Given the description of an element on the screen output the (x, y) to click on. 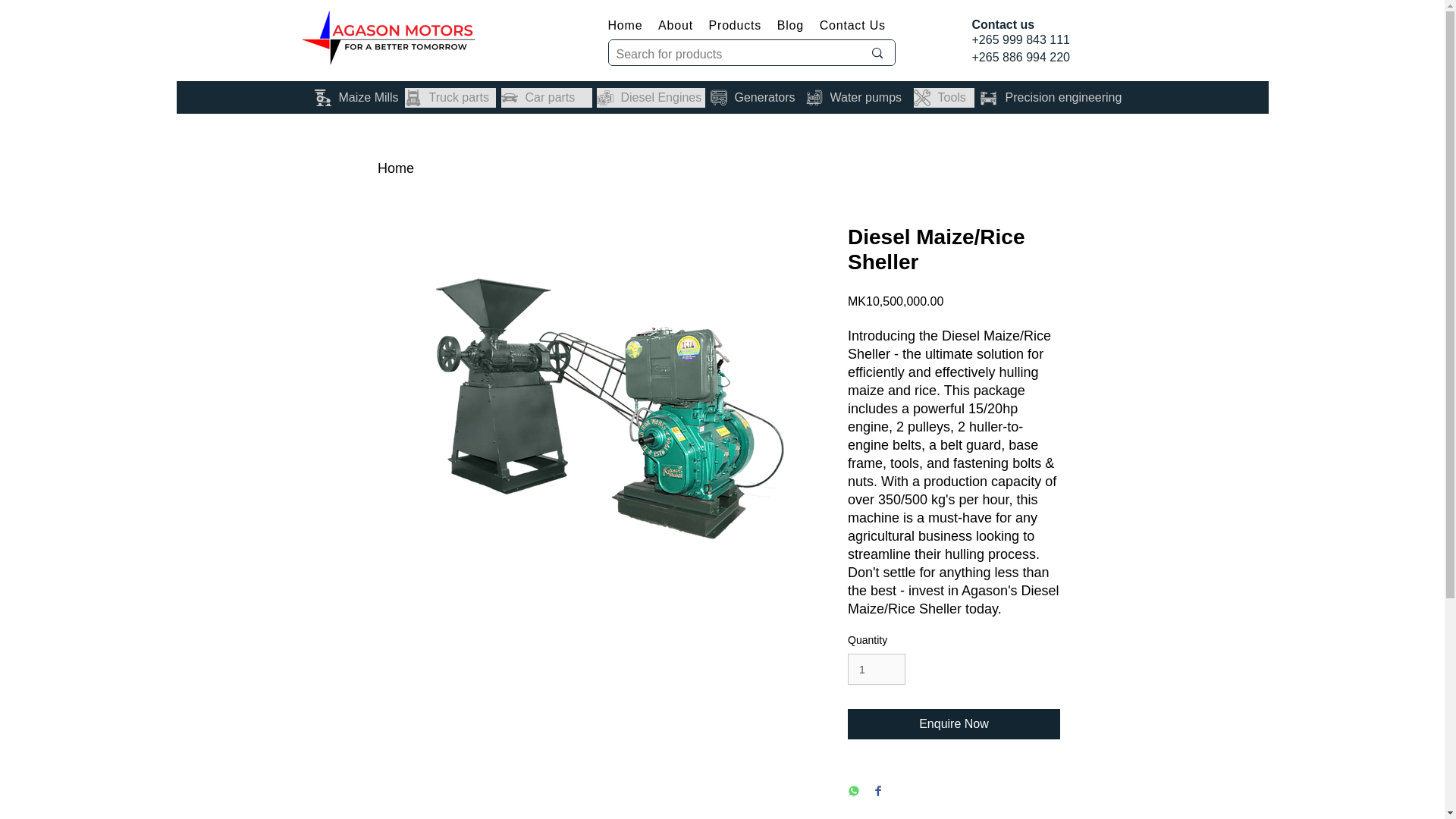
Water pumps (856, 97)
Maize Mills (356, 97)
Car parts (545, 97)
Home (395, 168)
Products (740, 25)
Tools (943, 97)
1 (876, 668)
agason-logo.png (388, 38)
Enquire Now (953, 724)
Home (630, 25)
Diesel Engines (649, 97)
Truck parts (450, 97)
About (679, 25)
Generators (755, 97)
Precision engineering (1053, 97)
